Given the description of an element on the screen output the (x, y) to click on. 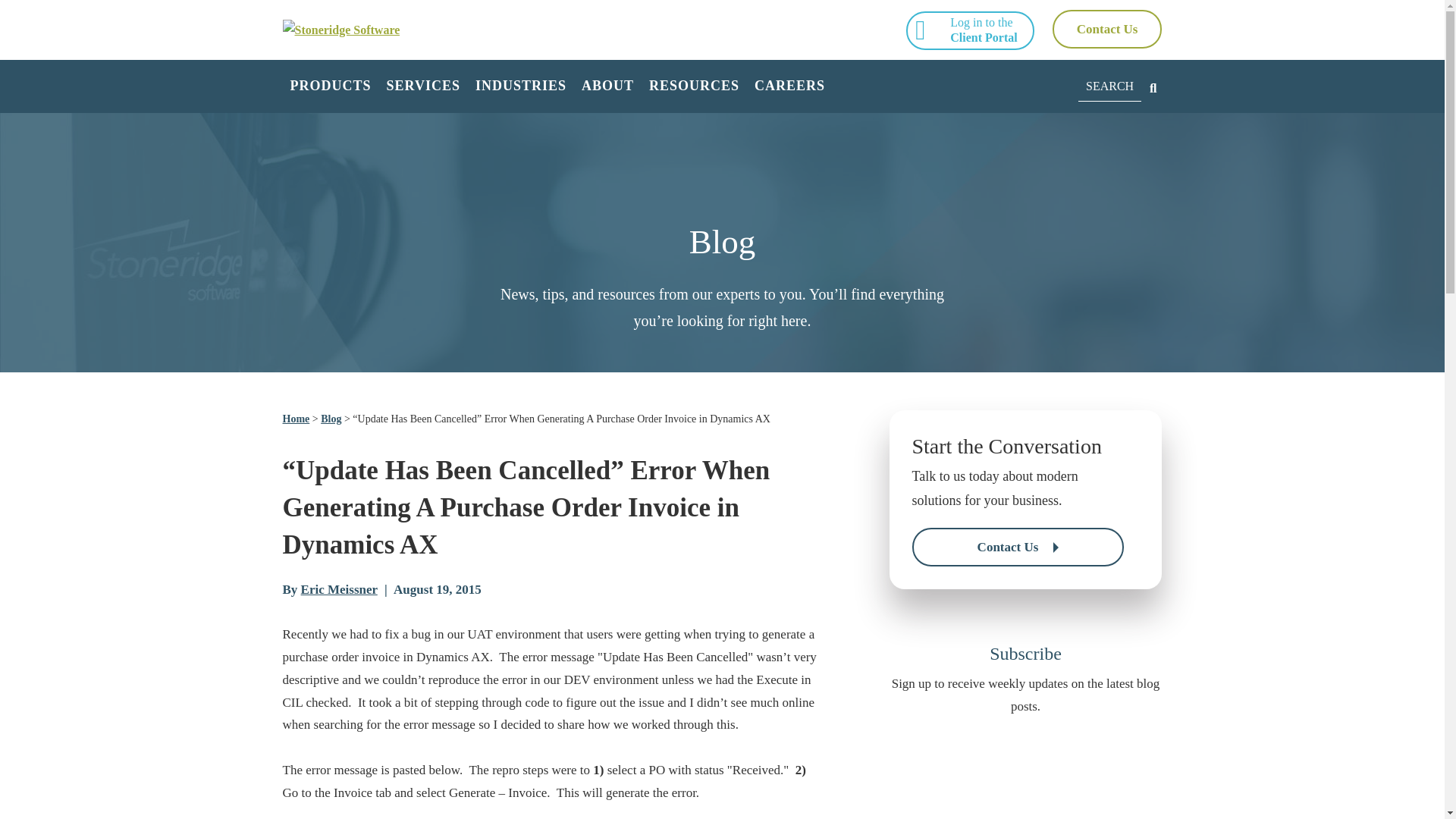
SERVICES (423, 86)
PRODUCTS (330, 86)
